Given the description of an element on the screen output the (x, y) to click on. 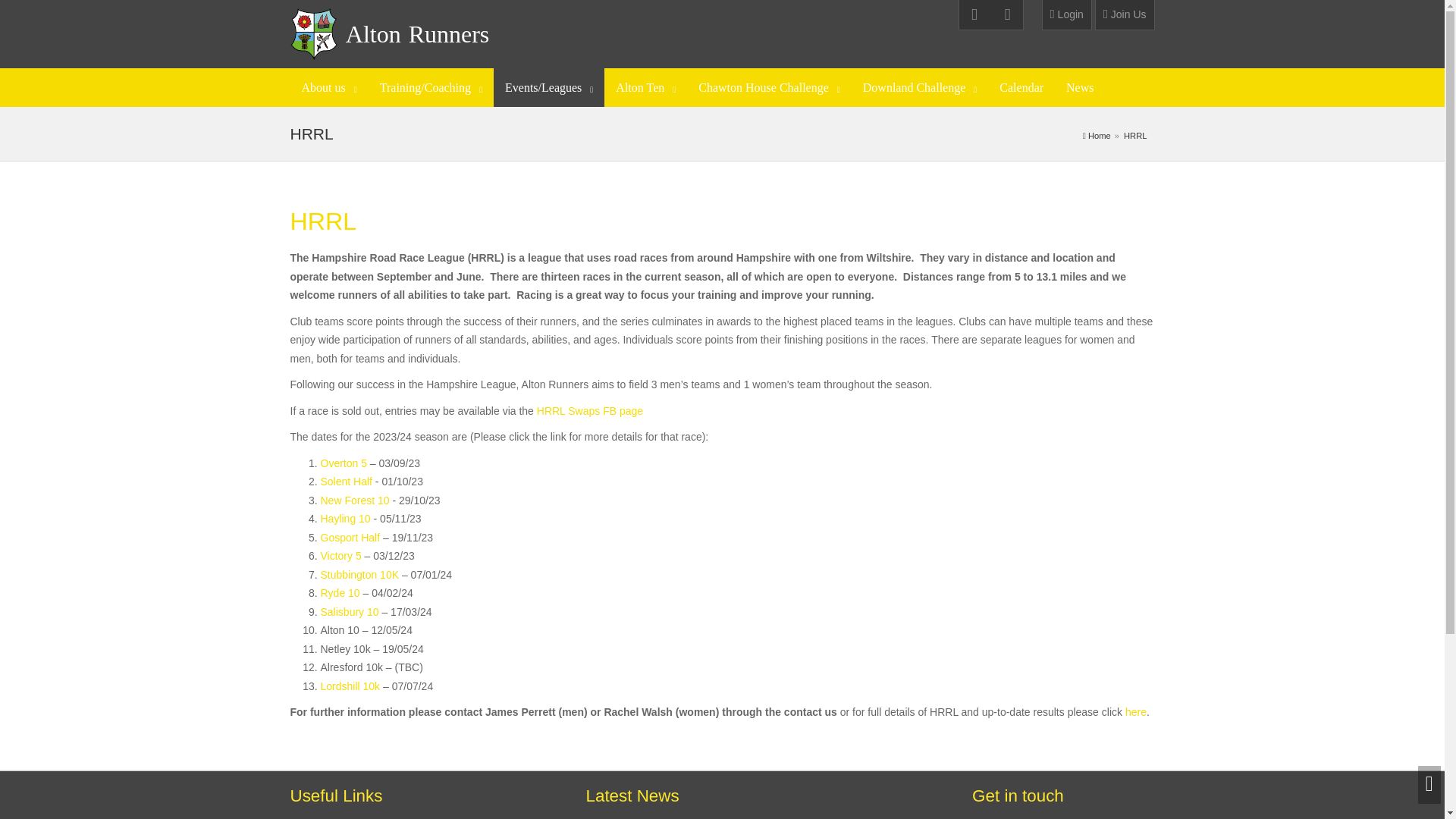
News (1079, 87)
Alton Runners (417, 33)
Home (1098, 135)
Calendar (1021, 87)
Alton Ten (645, 87)
Downland Challenge (919, 87)
HRRL Swaps FB page (590, 410)
Login (1067, 15)
Chawton House Challenge (769, 87)
Join Us (1124, 15)
